Given the description of an element on the screen output the (x, y) to click on. 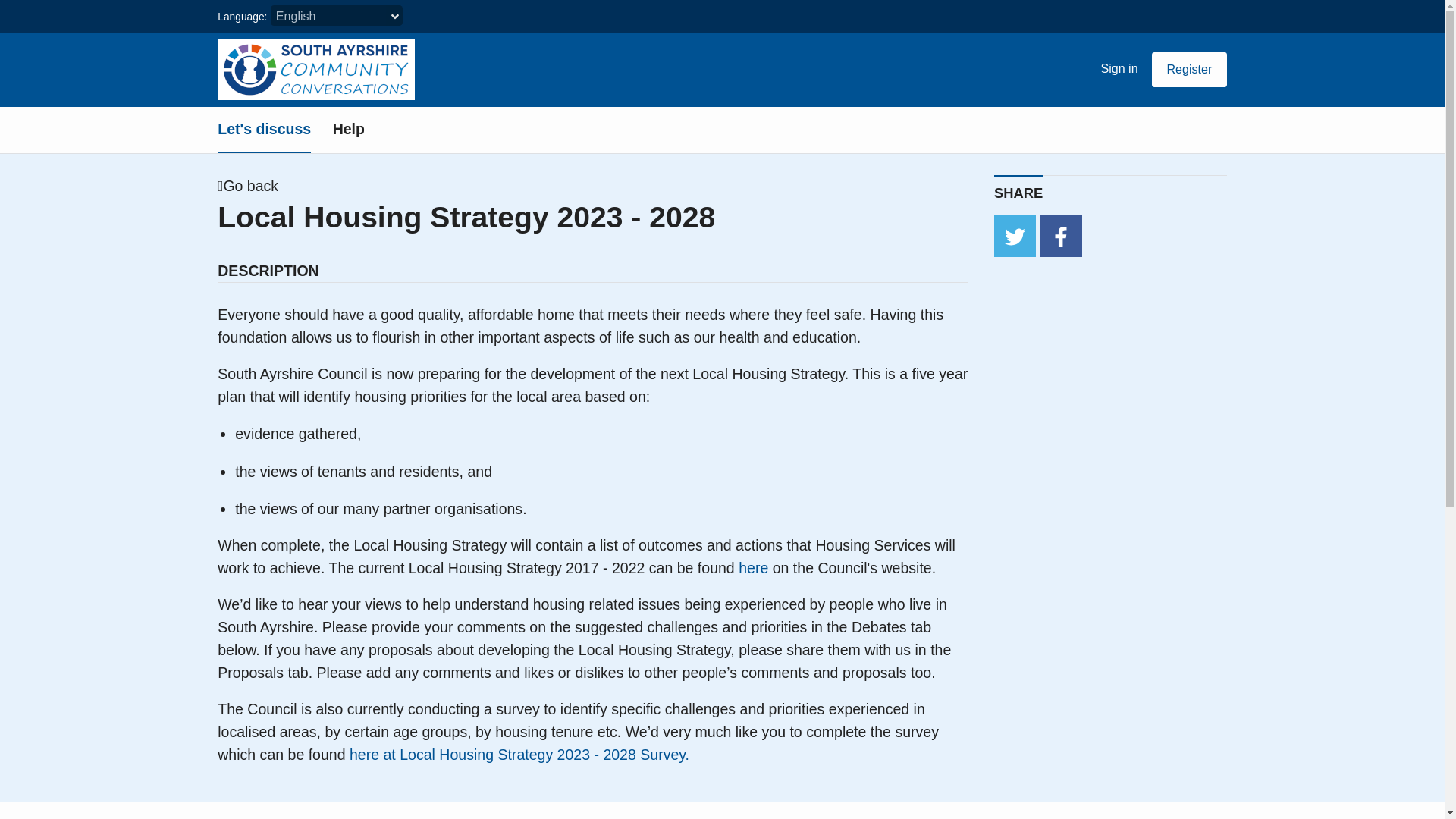
Sign in (1118, 68)
Let's discuss (263, 130)
twitter (1014, 236)
here at Local Housing Strategy 2023 - 2028 Survey. (518, 754)
Go back (252, 186)
facebook (1061, 236)
Share to Twitter (1014, 236)
Register (1189, 69)
here (753, 567)
Go to page of Let's discuss (263, 130)
Share to Facebook (1061, 236)
